Given the description of an element on the screen output the (x, y) to click on. 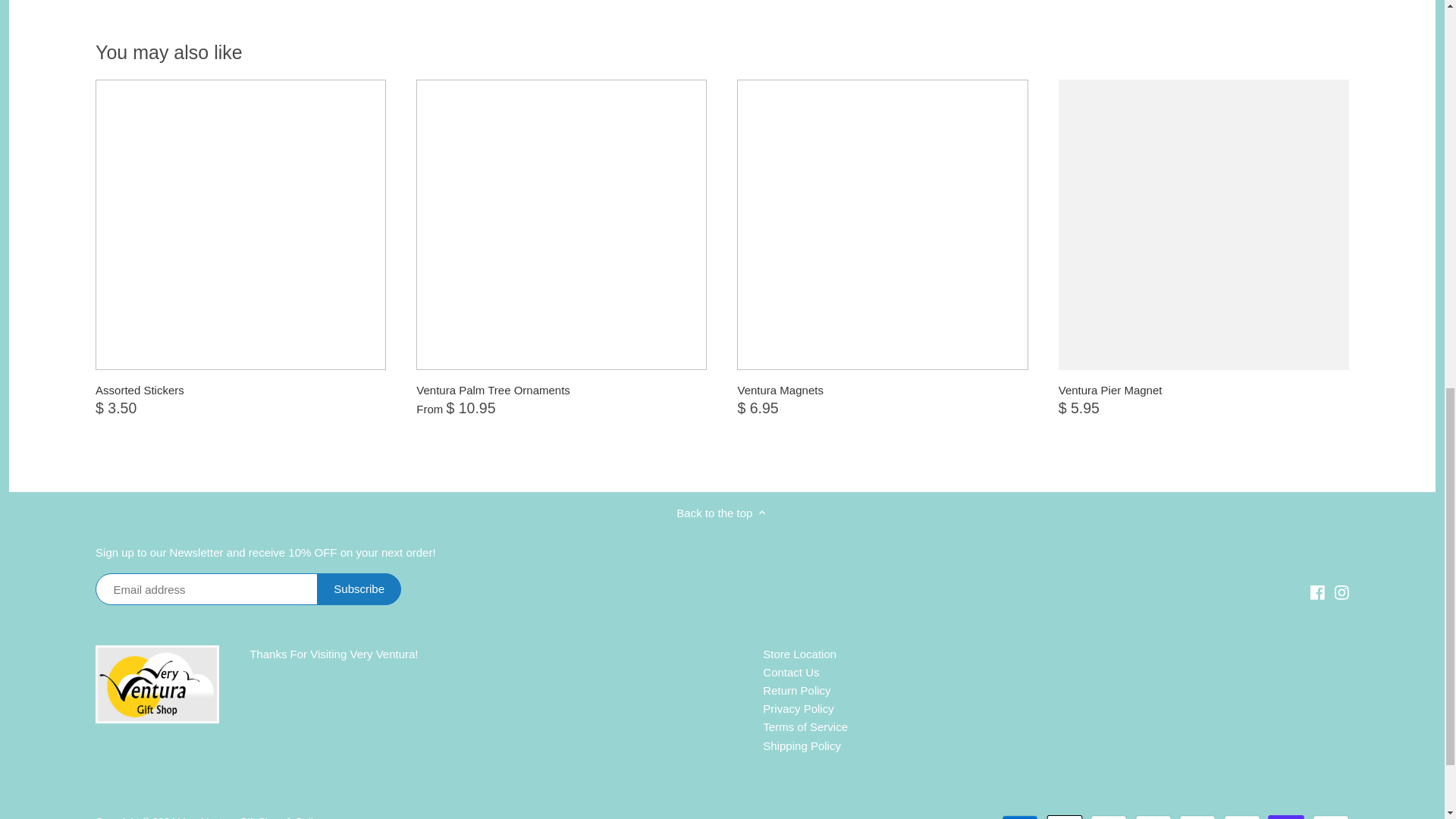
Facebook (1317, 590)
Shop Pay (1286, 816)
Apple Pay (1064, 816)
Subscribe (359, 589)
Discover (1108, 816)
Google Pay (1197, 816)
Meta Pay (1153, 816)
Instagram (1341, 592)
American Express (1019, 816)
Mastercard (1242, 816)
